Given the description of an element on the screen output the (x, y) to click on. 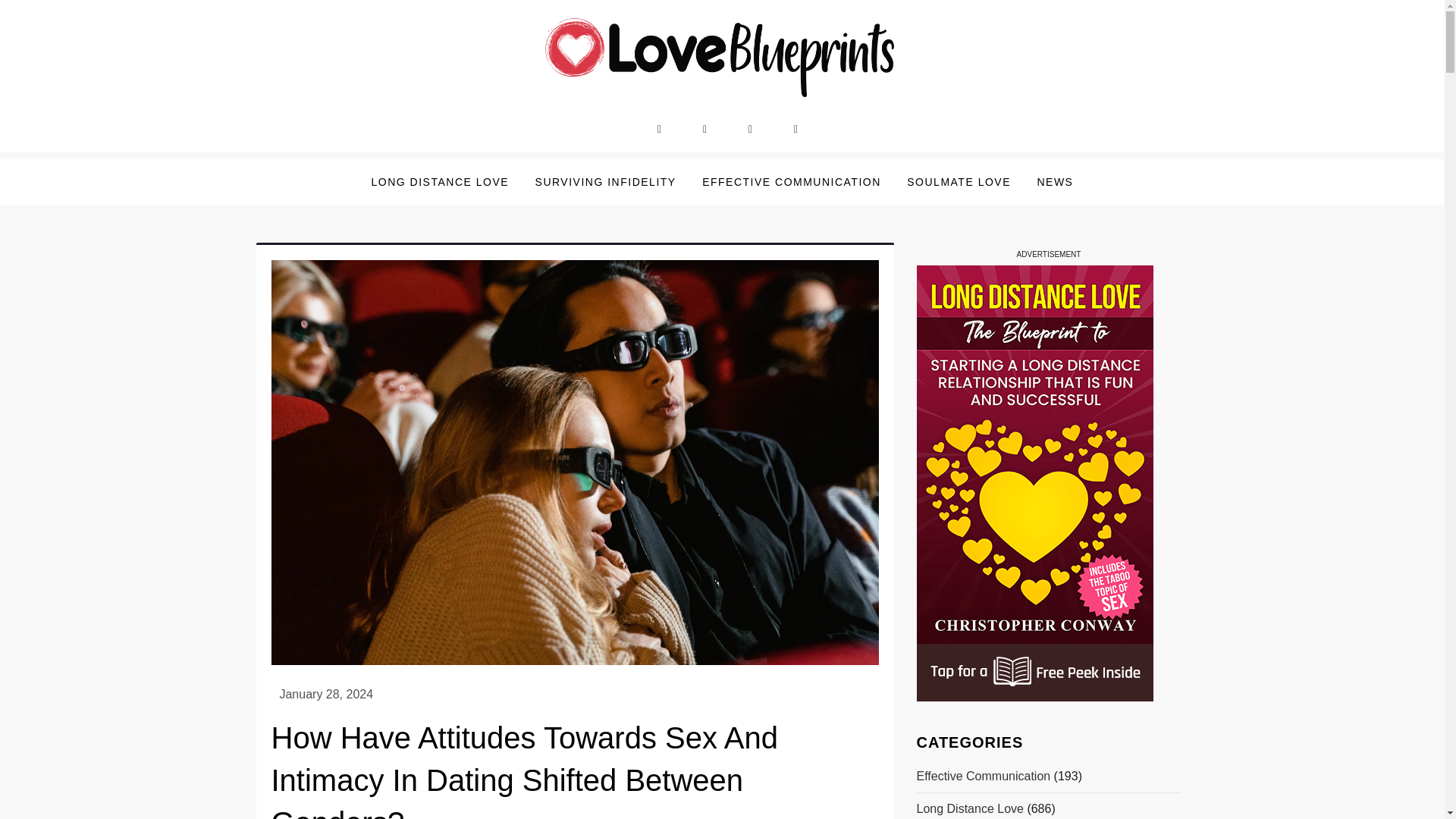
EFFECTIVE COMMUNICATION (791, 181)
January 28, 2024 (325, 694)
LONG DISTANCE LOVE (440, 181)
NEWS (1054, 181)
SURVIVING INFIDELITY (605, 181)
SOULMATE LOVE (958, 181)
Love Blueprints News (403, 120)
